Given the description of an element on the screen output the (x, y) to click on. 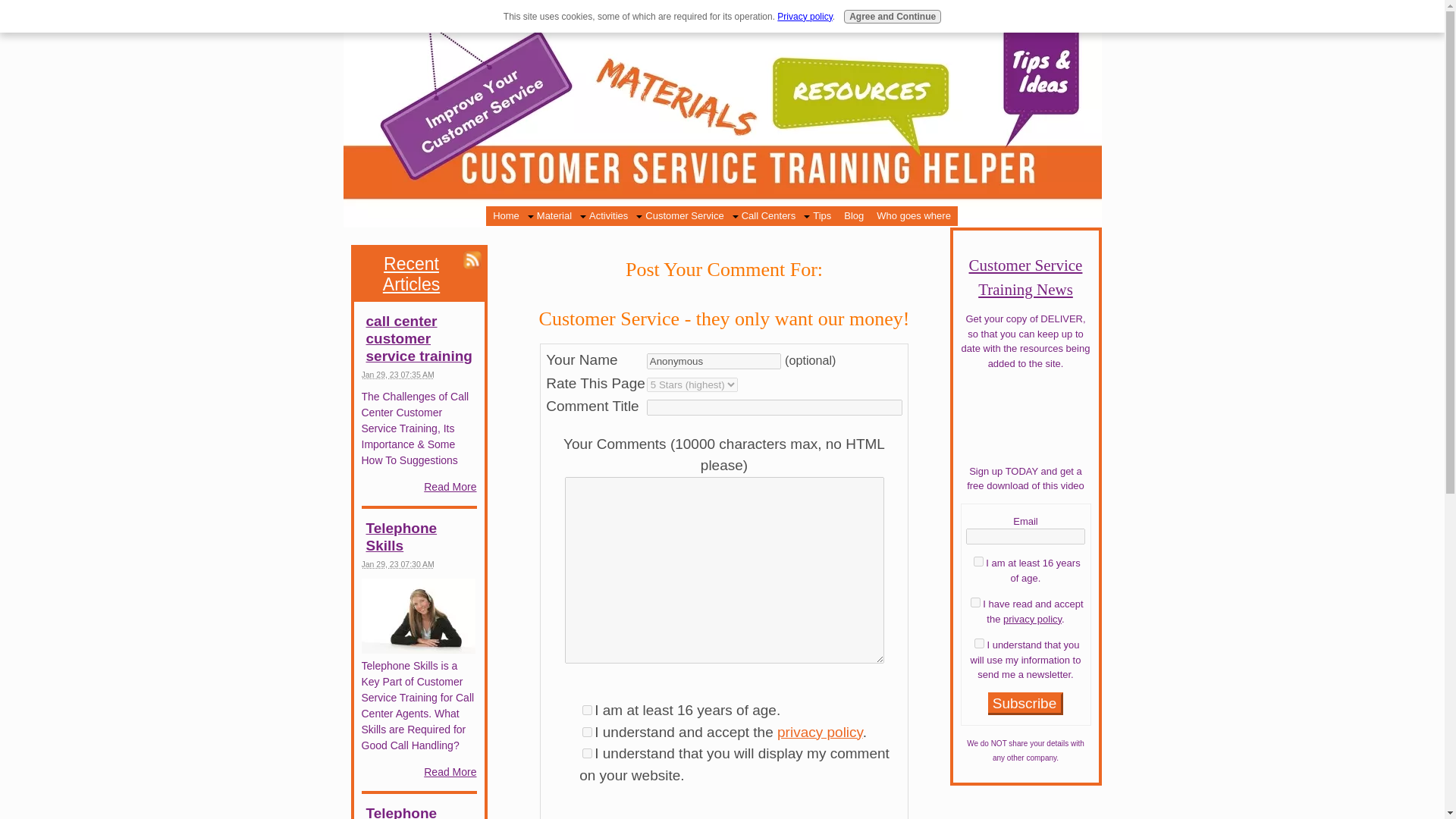
on (979, 561)
1 (587, 731)
Home (505, 216)
2023-01-29T07:35:41-0500 (397, 374)
2023-01-29T07:30:39-0500 (397, 563)
Anonymous (713, 360)
on (979, 643)
1 (587, 709)
on (975, 602)
1 (587, 753)
